Given the description of an element on the screen output the (x, y) to click on. 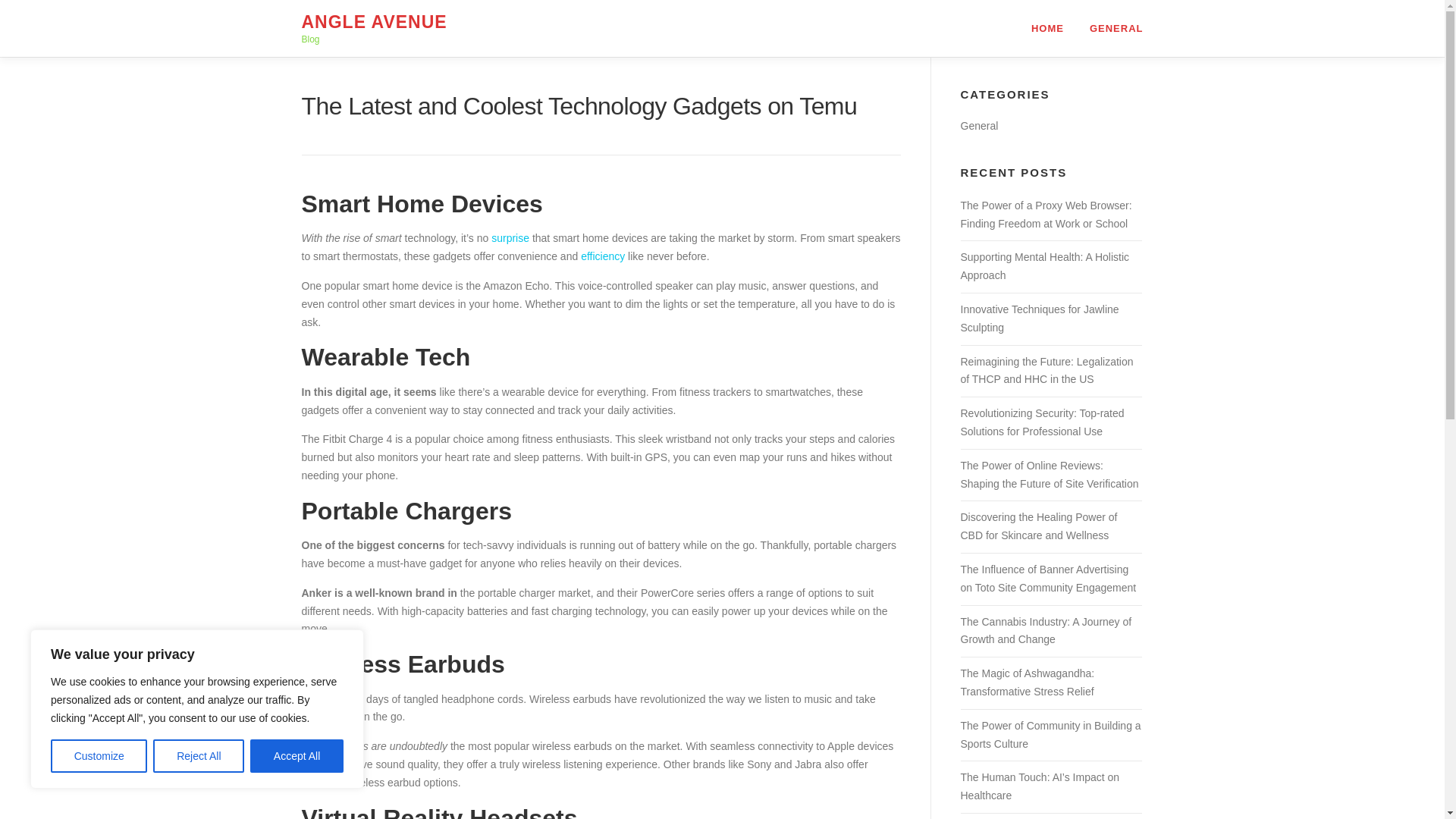
Customize (98, 756)
Supporting Mental Health: A Holistic Approach (1044, 265)
efficiency (602, 256)
General (978, 125)
The Cannabis Industry: A Journey of Growth and Change (1045, 630)
surprise (510, 237)
HOME (1047, 28)
Accept All (296, 756)
Innovative Techniques for Jawline Sculpting (1038, 318)
Reject All (198, 756)
The Magic of Ashwagandha: Transformative Stress Relief (1026, 682)
